Given the description of an element on the screen output the (x, y) to click on. 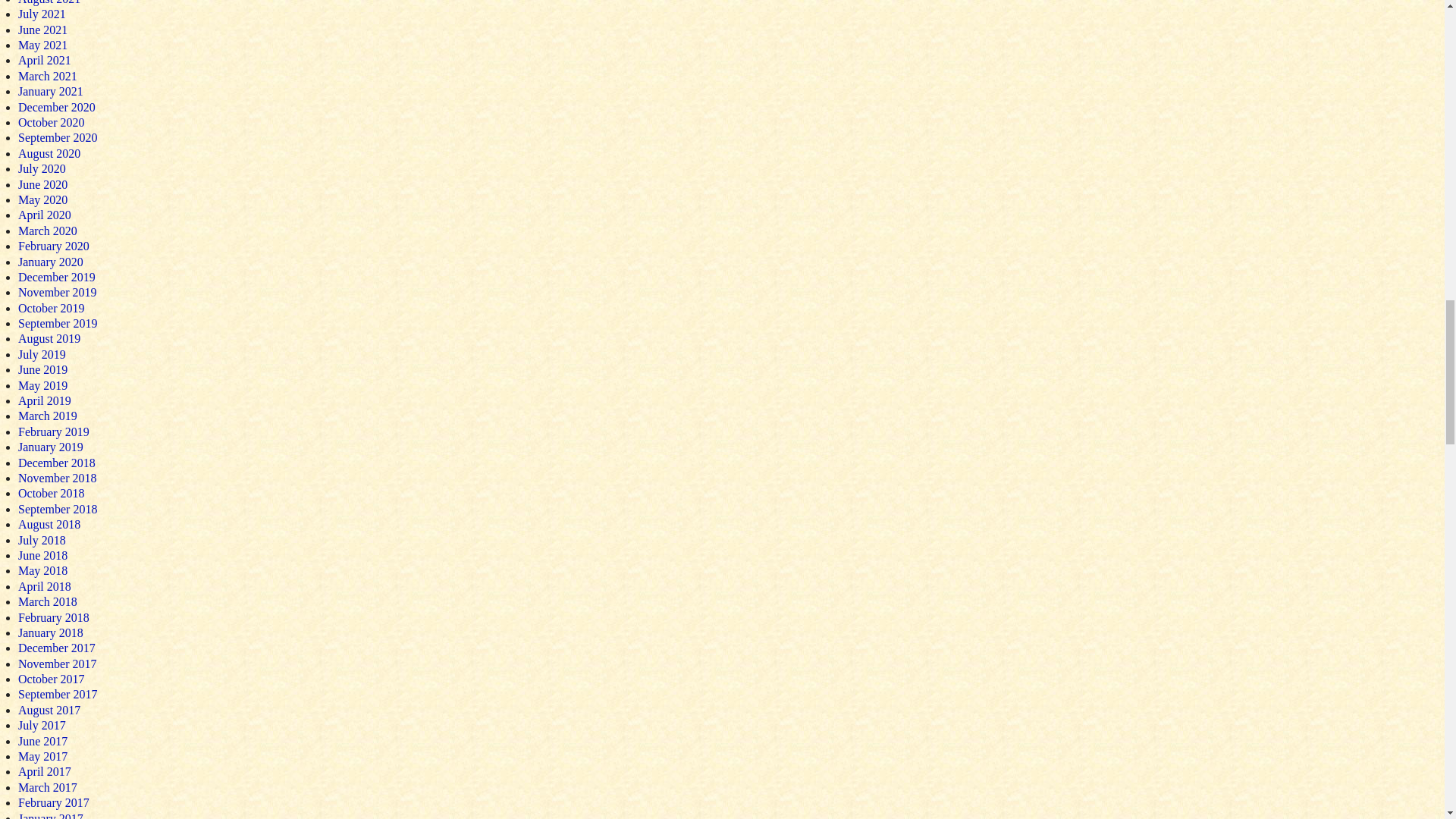
May 2021 (41, 44)
August 2021 (48, 2)
April 2021 (44, 60)
July 2021 (41, 13)
March 2021 (47, 75)
June 2021 (41, 29)
